Given the description of an element on the screen output the (x, y) to click on. 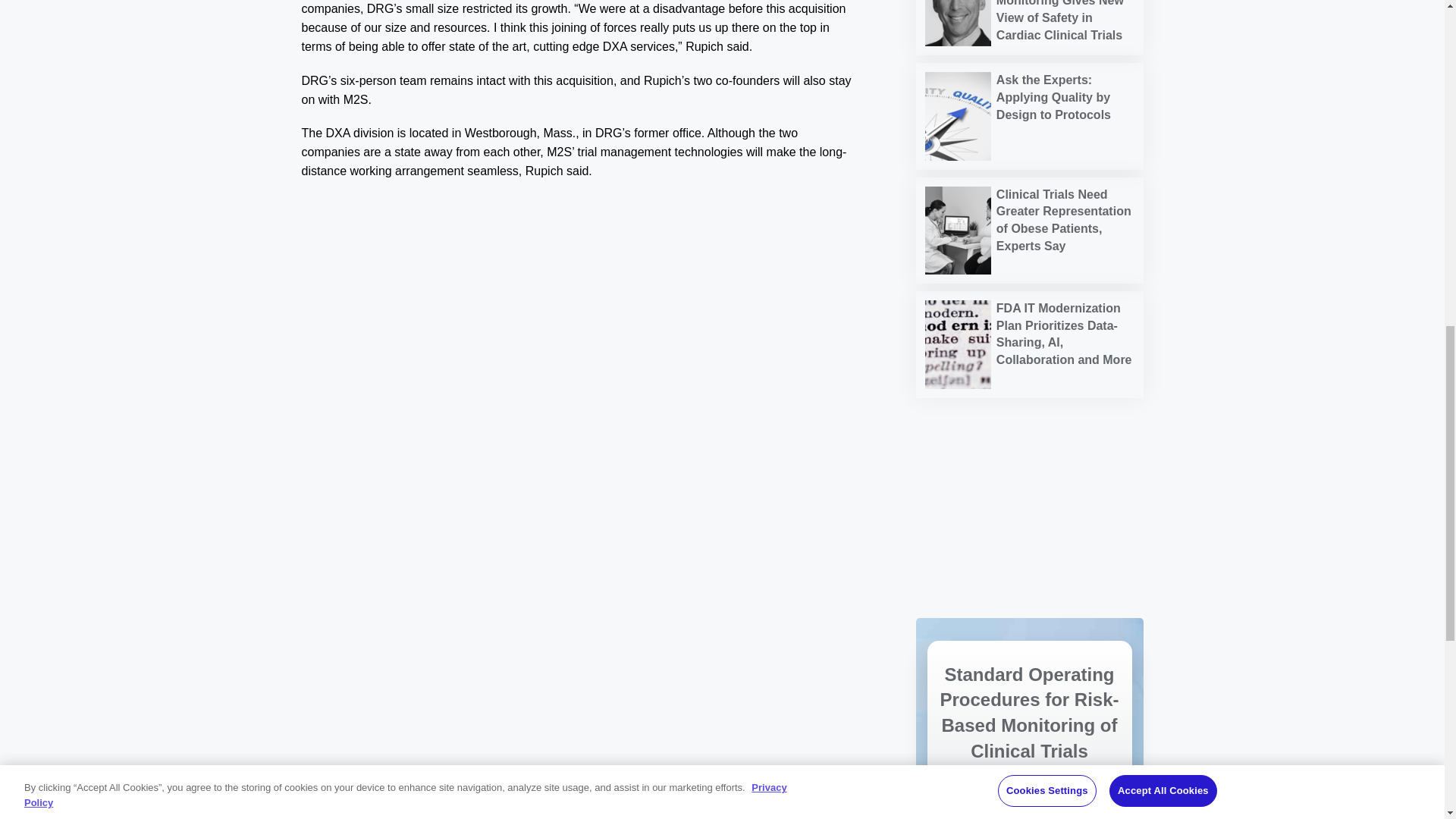
3rd party ad content (1028, 556)
Jonathan Seltzer (957, 22)
3rd party ad content (1028, 458)
